Given the description of an element on the screen output the (x, y) to click on. 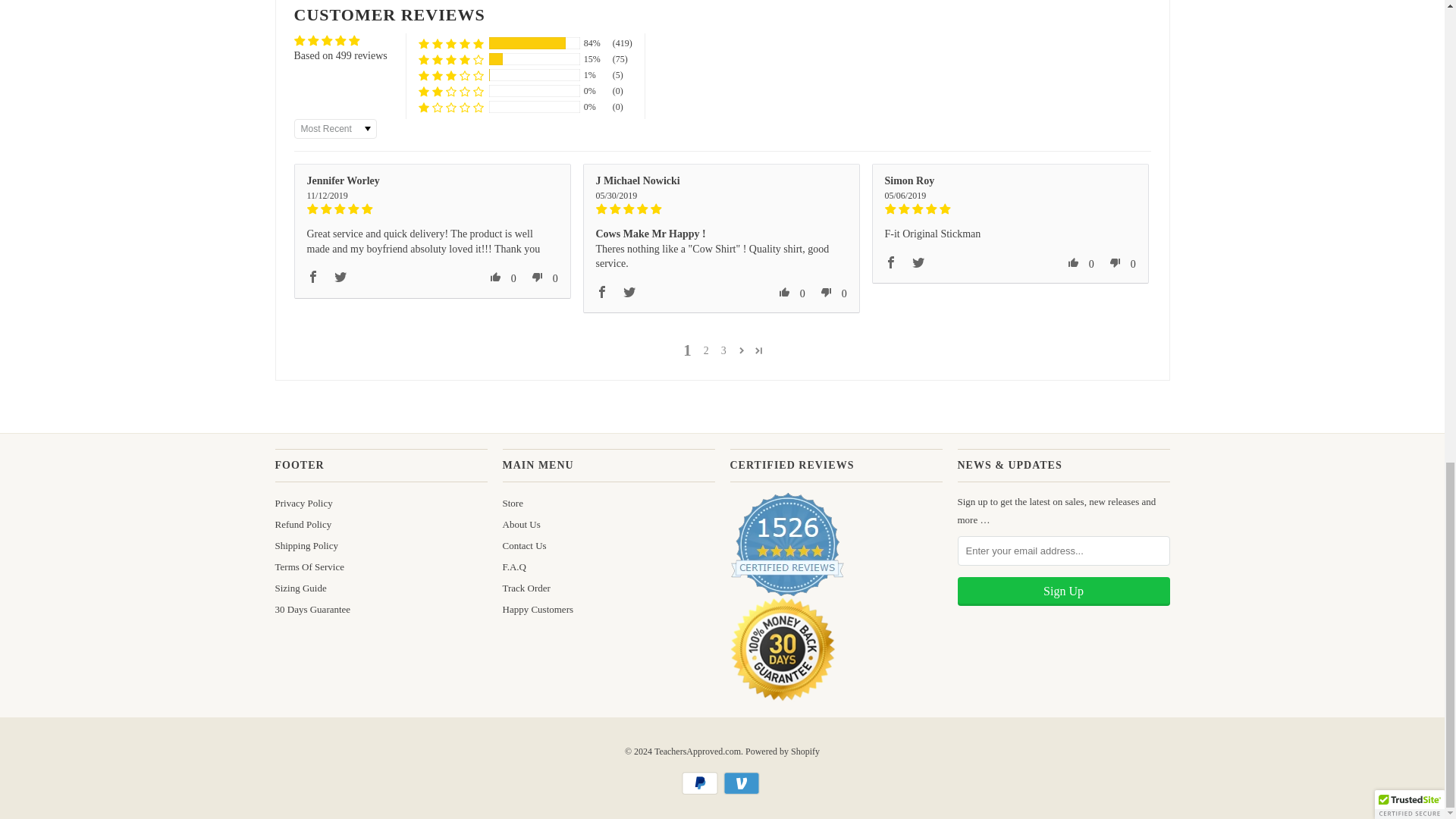
down (537, 276)
Facebook (311, 276)
2 (705, 351)
up (495, 276)
Sign Up (1062, 591)
1 (687, 350)
3 (723, 351)
Twitter (339, 276)
